Given the description of an element on the screen output the (x, y) to click on. 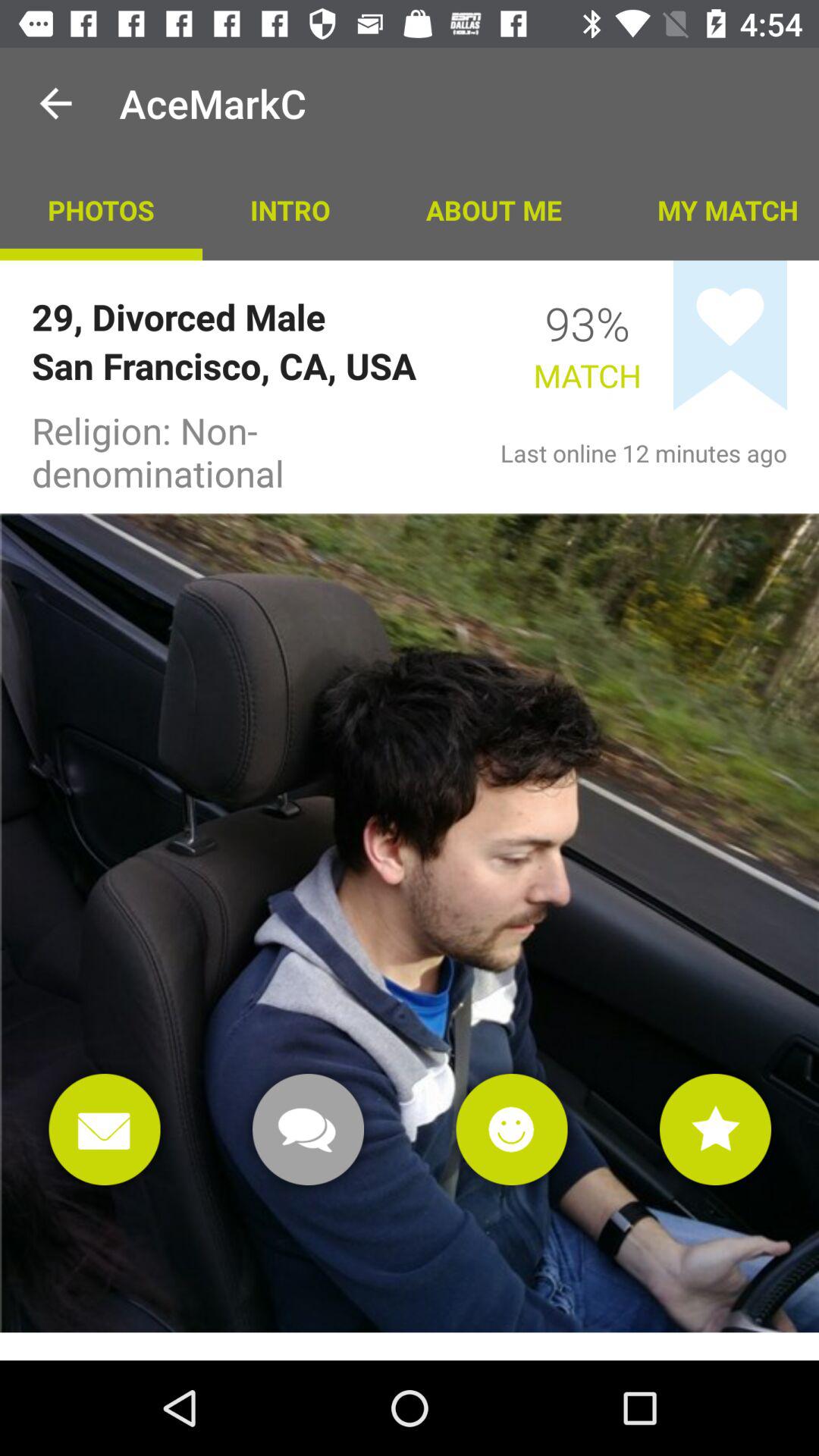
select the item above 29, divorced male (290, 209)
